Given the description of an element on the screen output the (x, y) to click on. 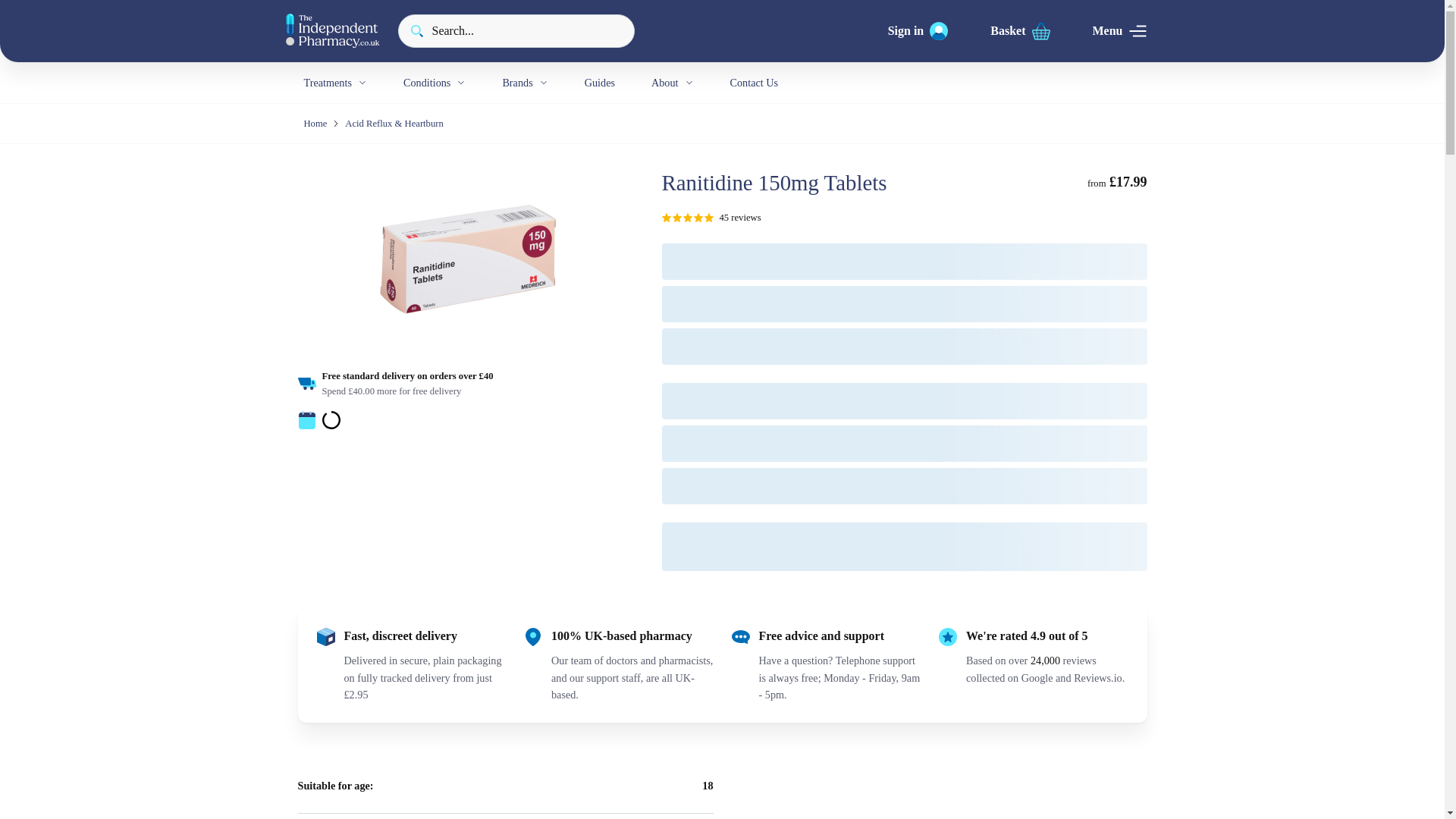
Menu (1119, 30)
Treatments (334, 83)
Open the main menu (1119, 30)
Sign in (918, 30)
Your Independent Pharmacy account (918, 30)
The Independent Pharmacy homepage (331, 30)
Open your basket (1019, 30)
Basket (1019, 30)
